Given the description of an element on the screen output the (x, y) to click on. 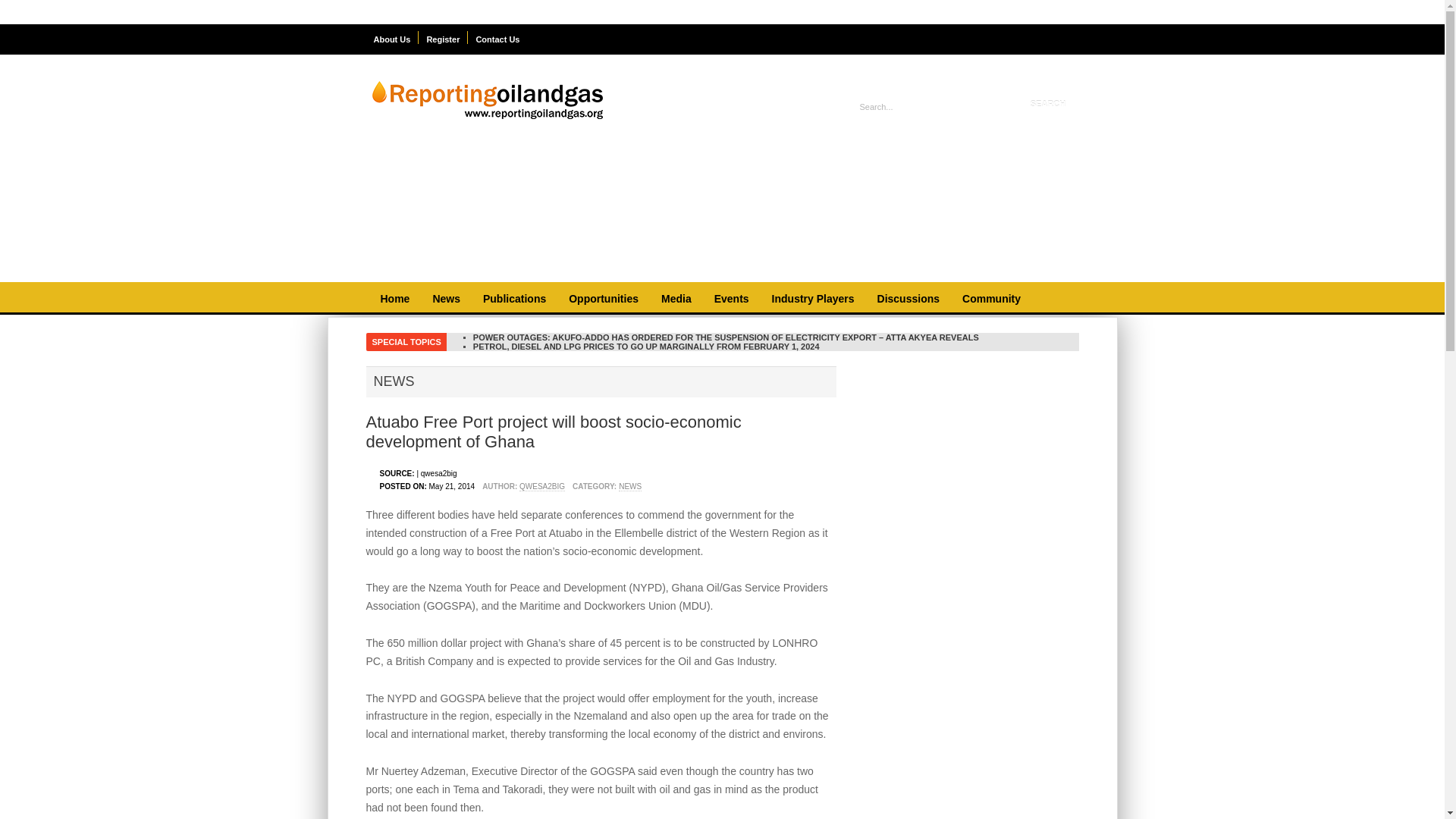
RSS (1064, 41)
Industry Players (813, 298)
Scroll to top (1422, 796)
Opportunities (603, 298)
News (445, 298)
Facebook (1030, 41)
Discussions (908, 298)
Register (442, 37)
Media (676, 298)
